Given the description of an element on the screen output the (x, y) to click on. 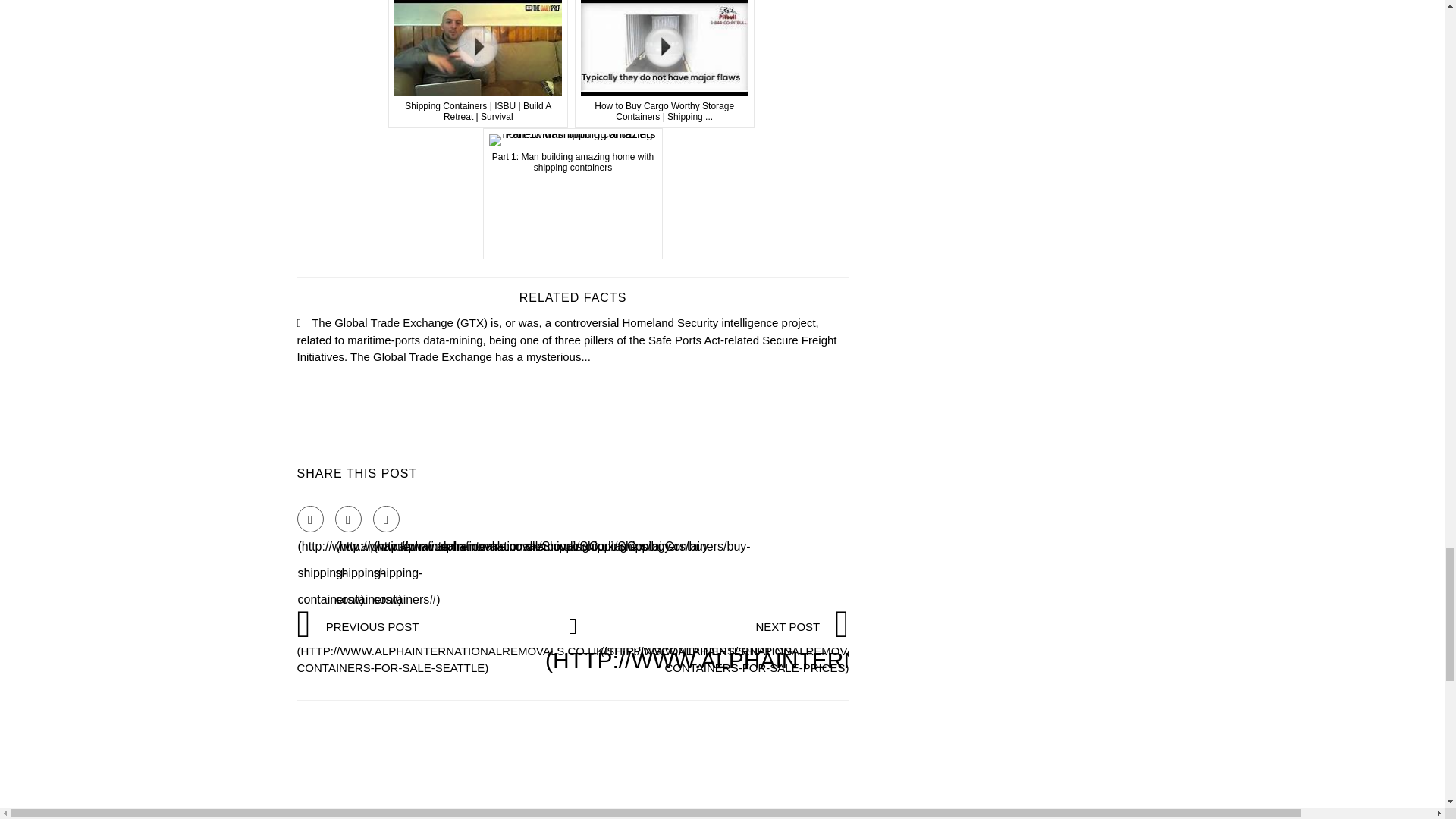
View this video from WN (664, 63)
Google Plus (385, 519)
Facebook (310, 519)
PREVIOUS POST (546, 646)
Video temporarily unavailable (477, 63)
View this video from YouTube (572, 193)
NEXT POST (849, 646)
Twitter (347, 519)
